Given the description of an element on the screen output the (x, y) to click on. 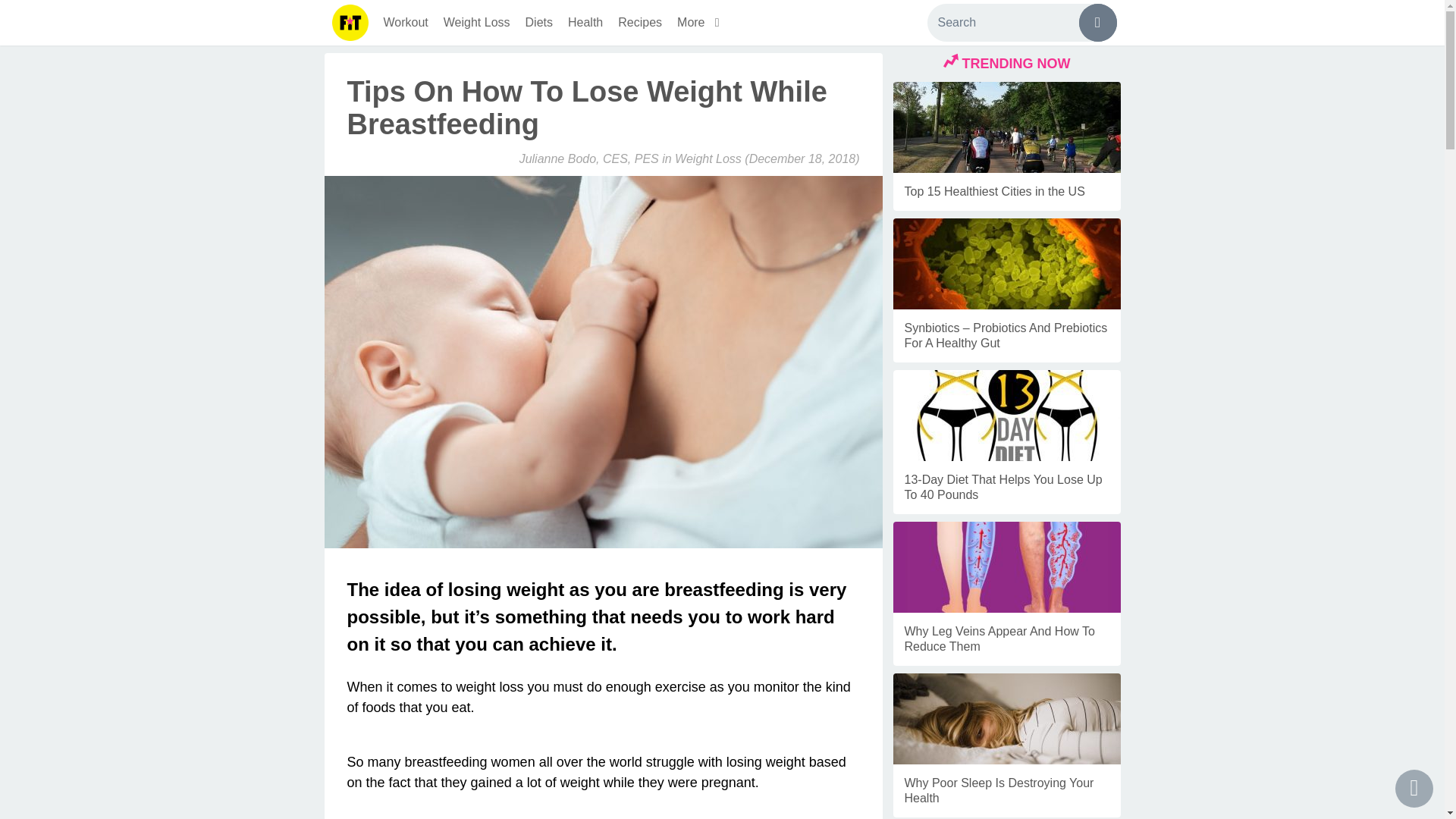
Health (585, 22)
Posts by Julianne Bodo, CES, PES (589, 158)
More (701, 22)
Search (1021, 22)
Diets (539, 22)
Workout (405, 22)
Julianne Bodo, CES, PES (589, 158)
Recipes (639, 22)
Weight Loss (476, 22)
Weight Loss (708, 158)
